Given the description of an element on the screen output the (x, y) to click on. 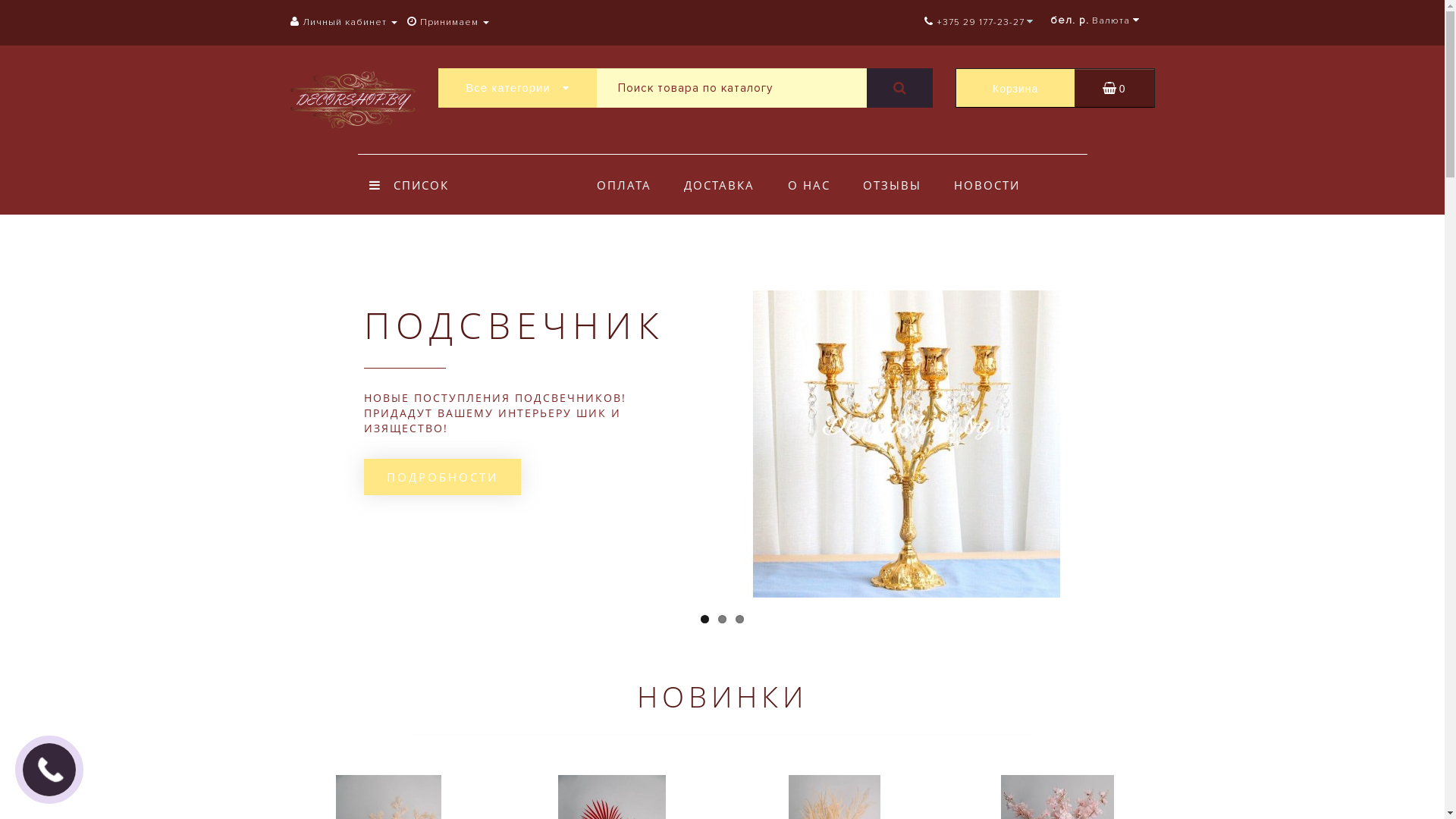
+375 29 177-23-27 Element type: text (973, 22)
Decorshop.by Element type: hover (351, 99)
